Given the description of an element on the screen output the (x, y) to click on. 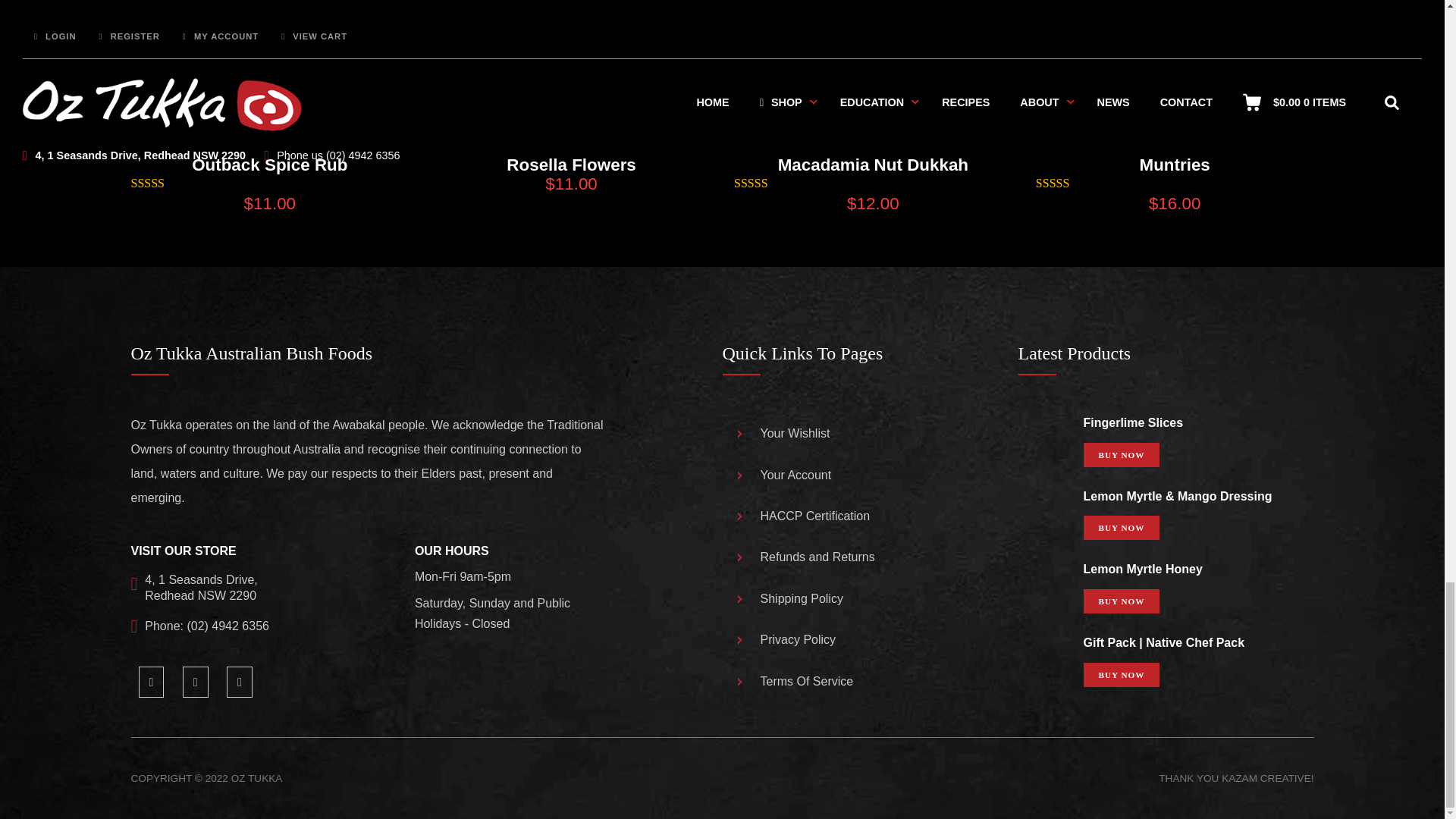
Website Design Services (1267, 778)
